Given the description of an element on the screen output the (x, y) to click on. 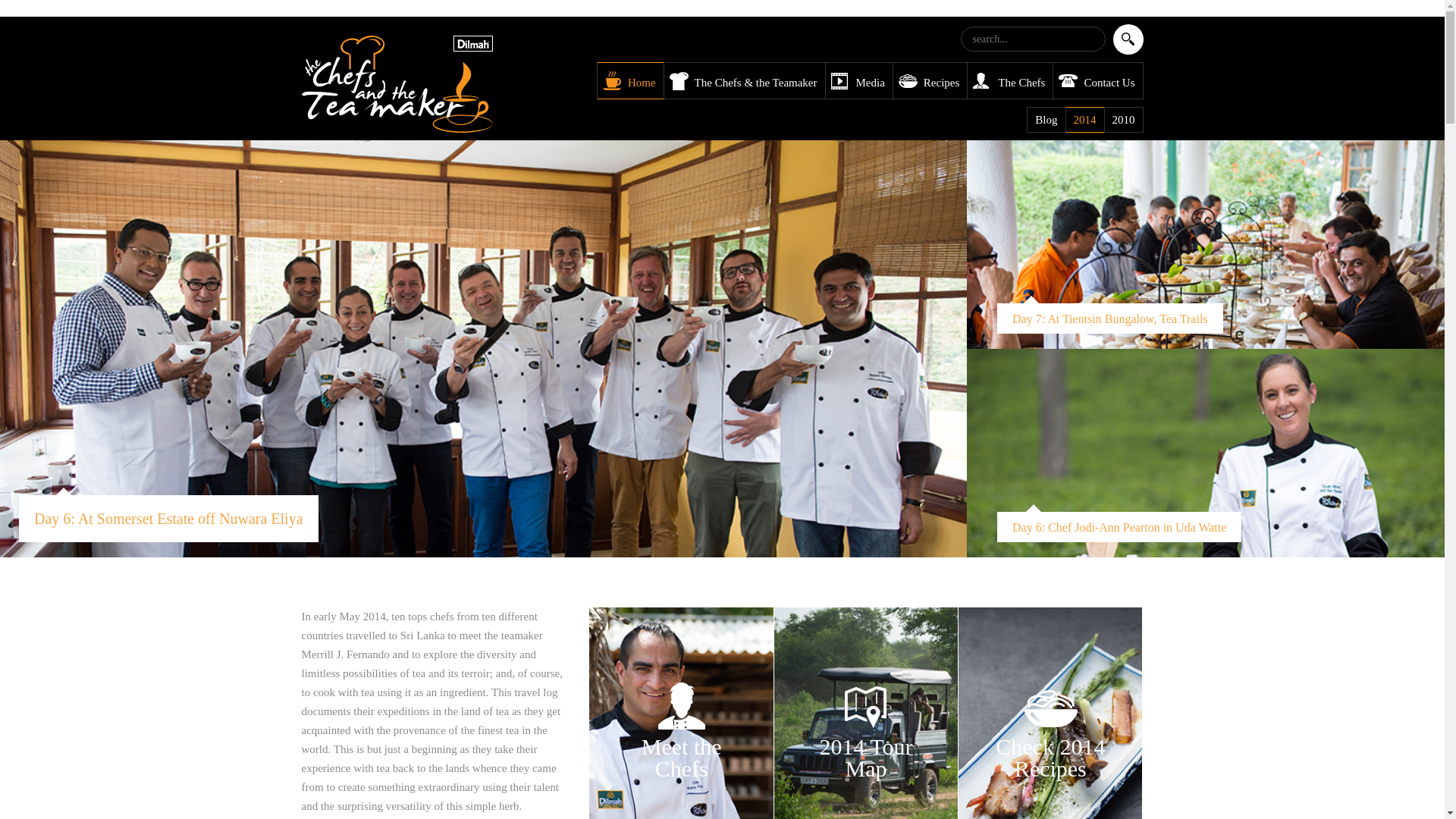
The Chefs (1009, 80)
2014 (1083, 119)
Day 6: Chef Jodi-Ann Pearton in Uda Watte (1118, 623)
Search (1127, 39)
Day 6: At Somerset Estate off Nuwara Eliya (866, 736)
Meet the Chefs (167, 518)
Day 7: At Tientsin Bungalow, Tea Trails (681, 736)
Day 6: At Somerset Estate off Nuwara Eliya (1109, 415)
Search (1049, 736)
Recipes (167, 518)
Contact Us (681, 736)
2010 (1127, 39)
